Given the description of an element on the screen output the (x, y) to click on. 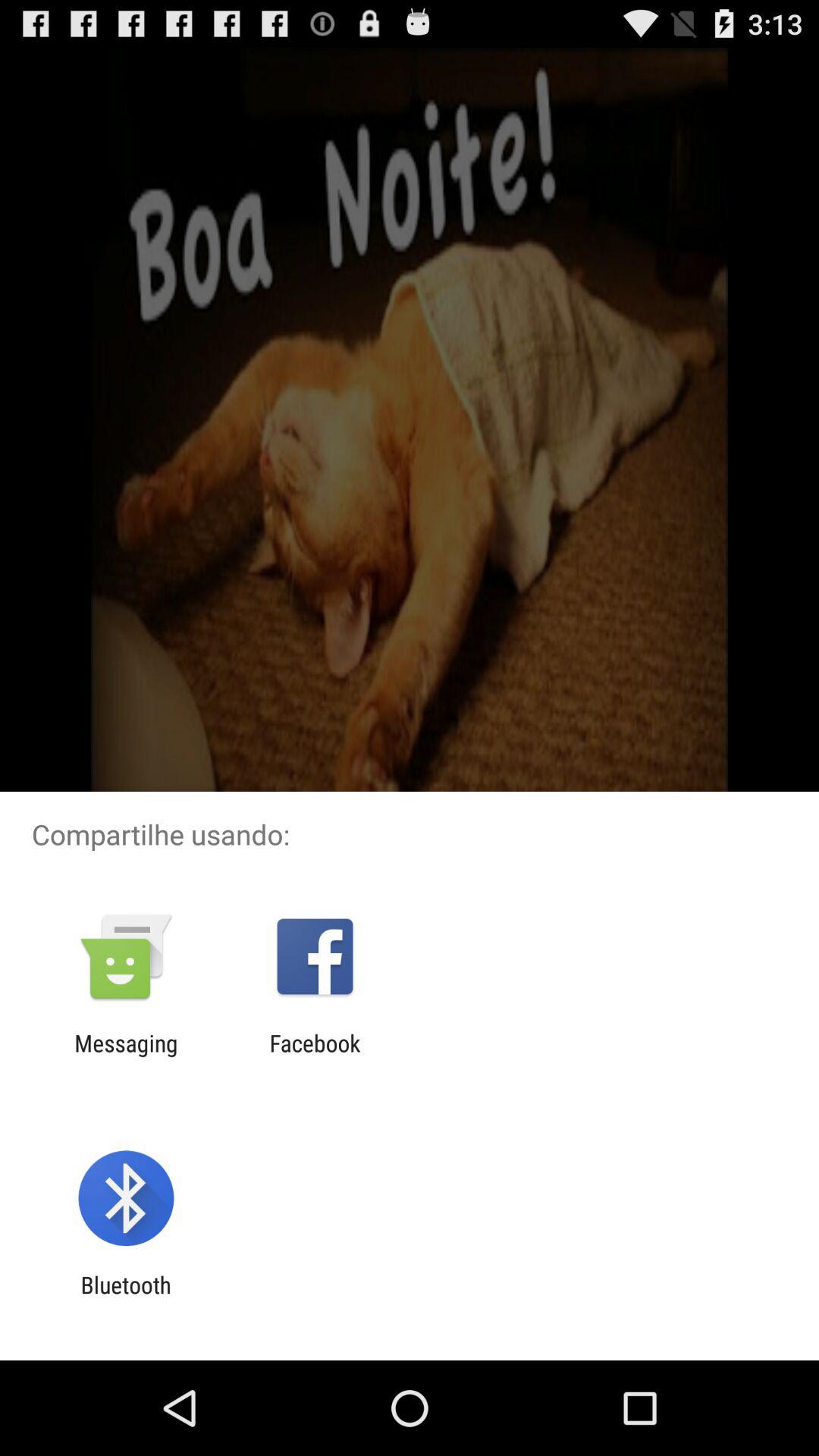
open the app next to the facebook (126, 1056)
